Given the description of an element on the screen output the (x, y) to click on. 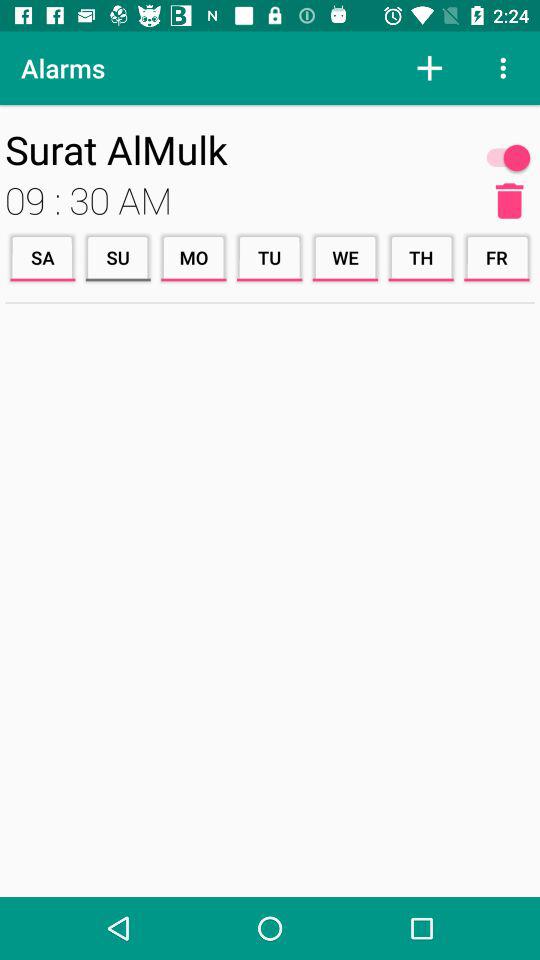
press the icon next to su (42, 257)
